Given the description of an element on the screen output the (x, y) to click on. 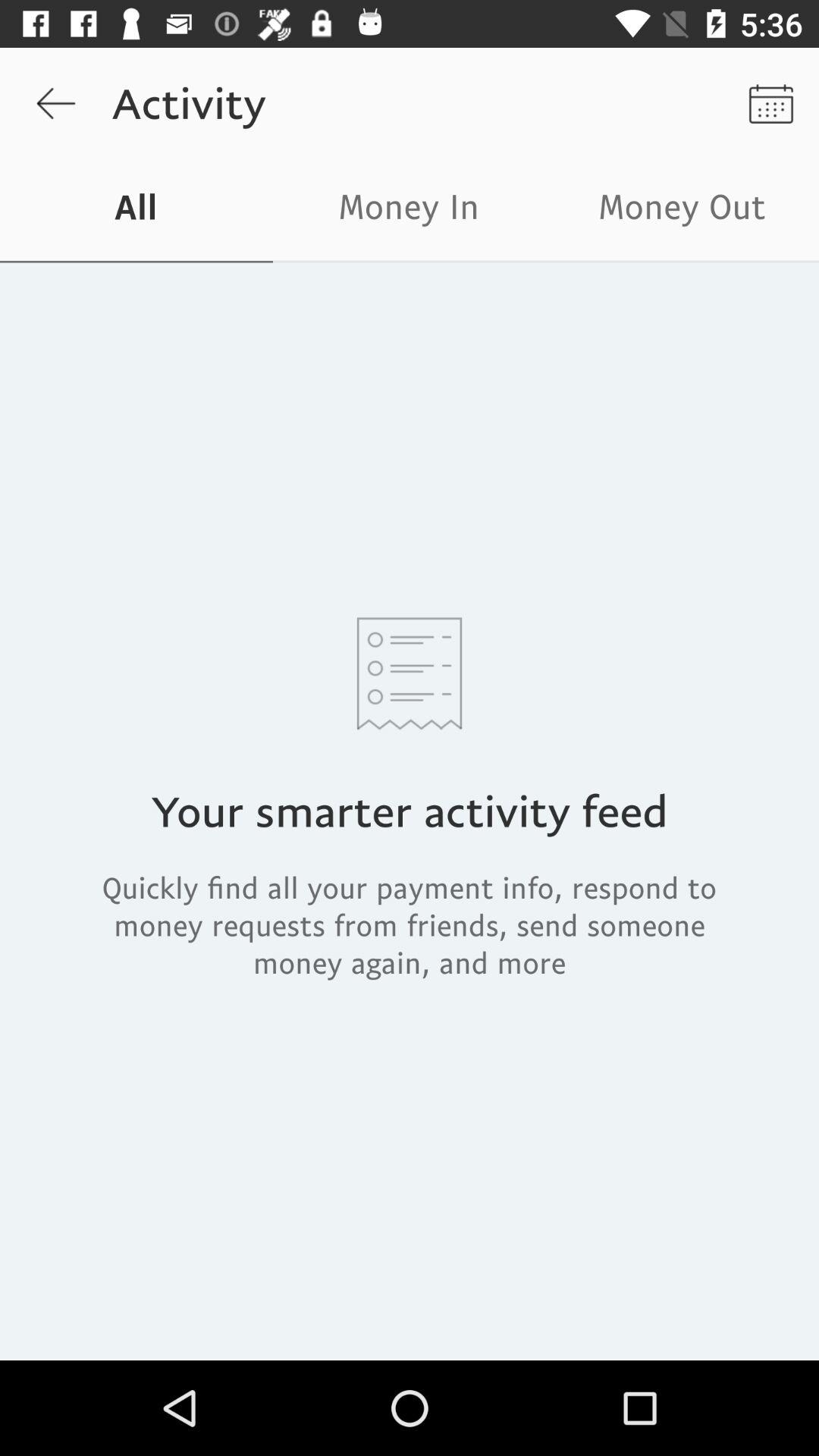
choose money out item (682, 210)
